Given the description of an element on the screen output the (x, y) to click on. 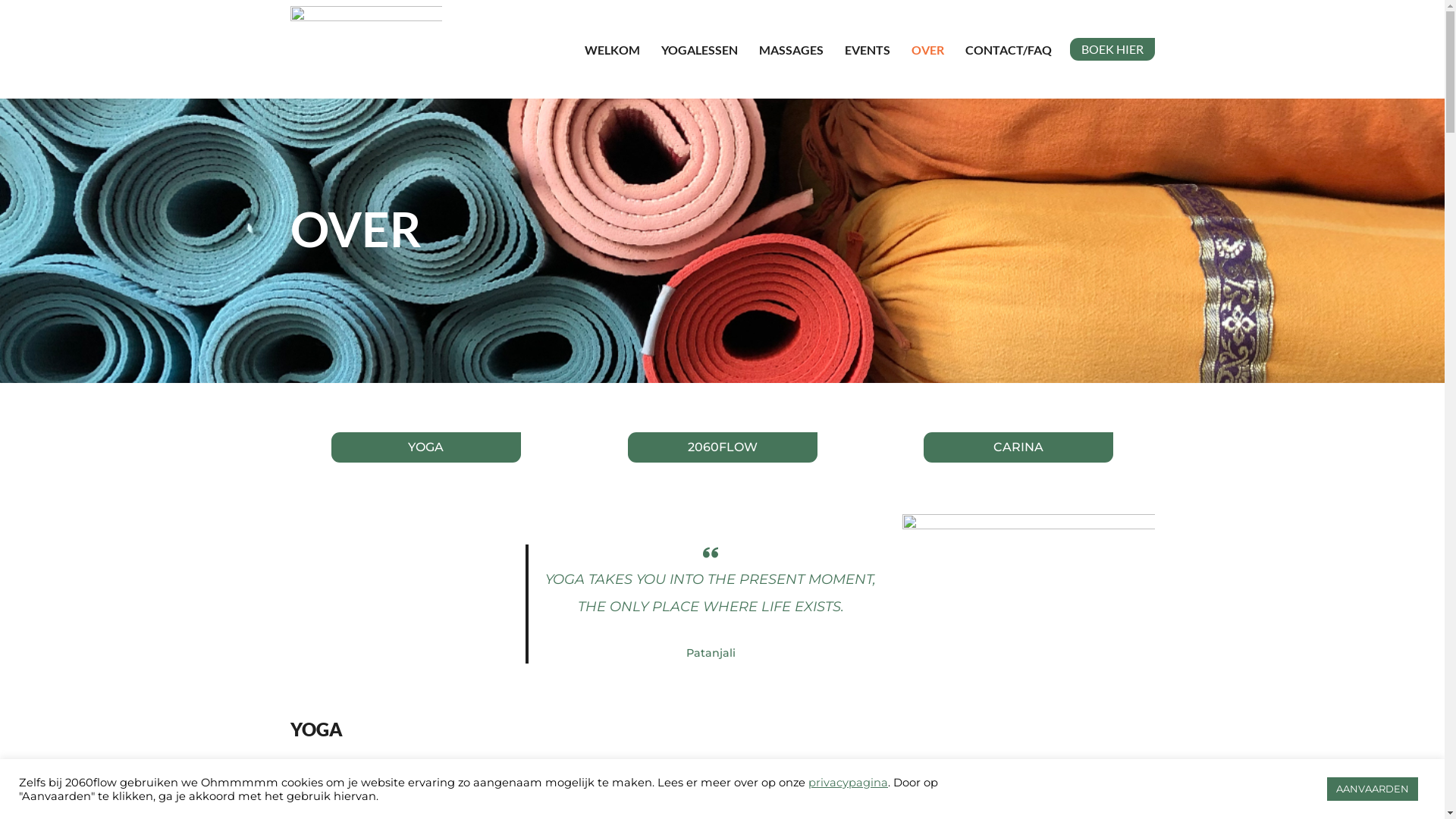
OVER Element type: text (927, 49)
2060FLOW Element type: text (722, 447)
WELKOM Element type: text (611, 49)
EVENTS Element type: text (867, 49)
BOEK HIER Element type: text (1111, 48)
MASSAGES Element type: text (790, 49)
CONTACT/FAQ Element type: text (1007, 49)
AANVAARDEN Element type: text (1372, 788)
YOGALESSEN Element type: text (699, 49)
Spring naar de inhoud Element type: text (11, 31)
privacypagina Element type: text (848, 781)
YOGA Element type: text (425, 447)
CARINA Element type: text (1018, 447)
